Given the description of an element on the screen output the (x, y) to click on. 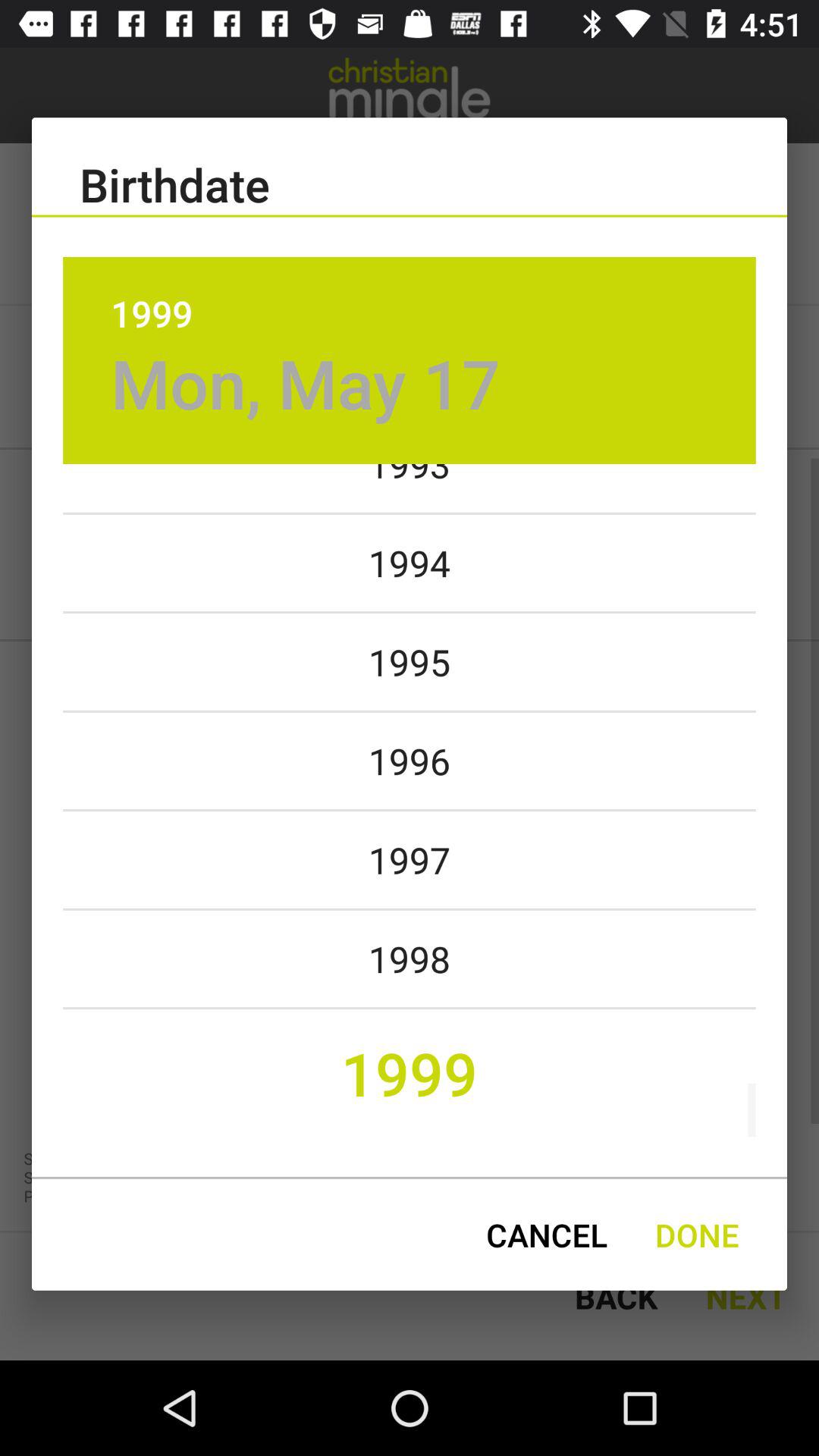
turn on the cancel item (546, 1234)
